Given the description of an element on the screen output the (x, y) to click on. 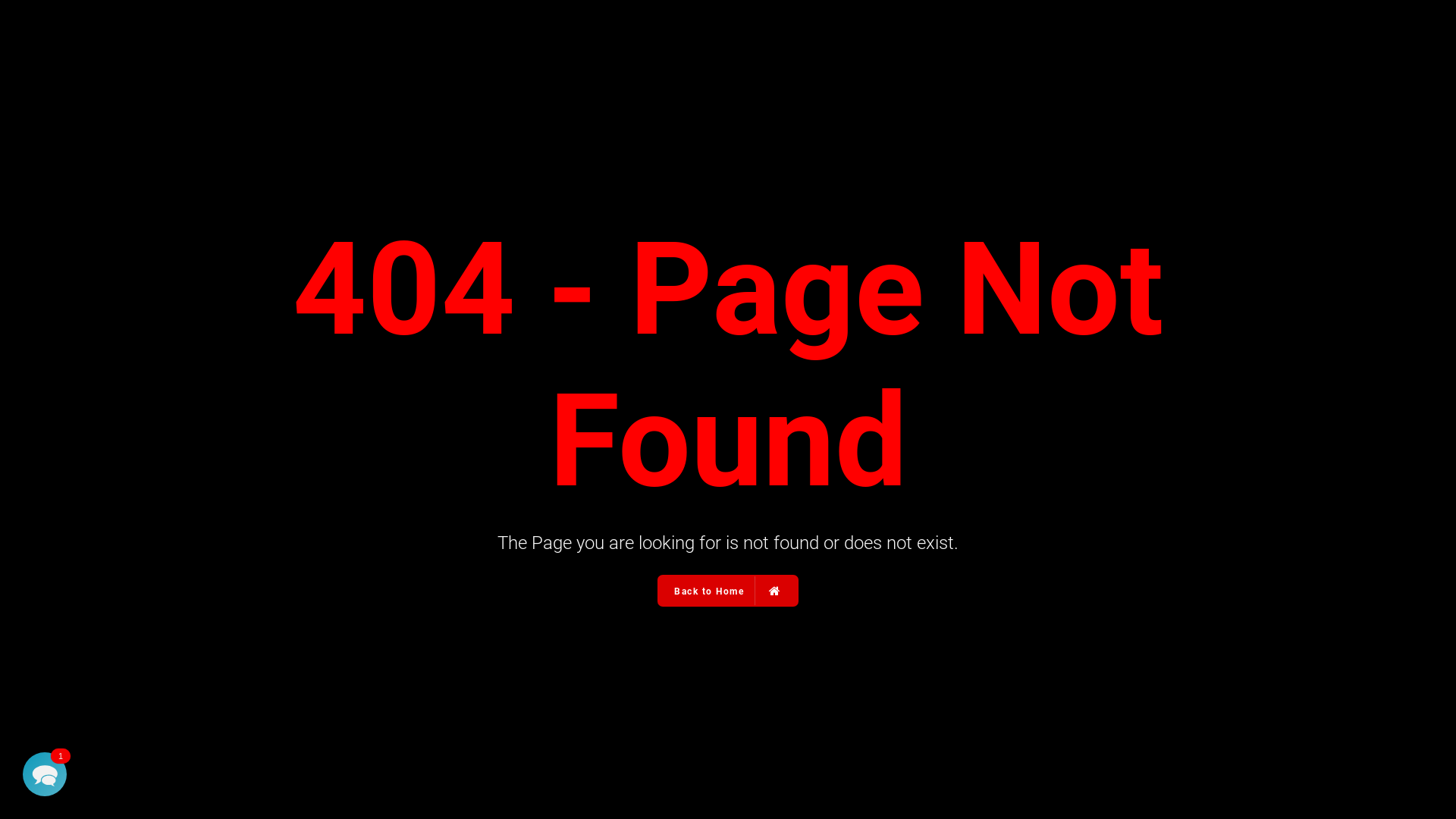
Back to Home Element type: text (727, 590)
